Given the description of an element on the screen output the (x, y) to click on. 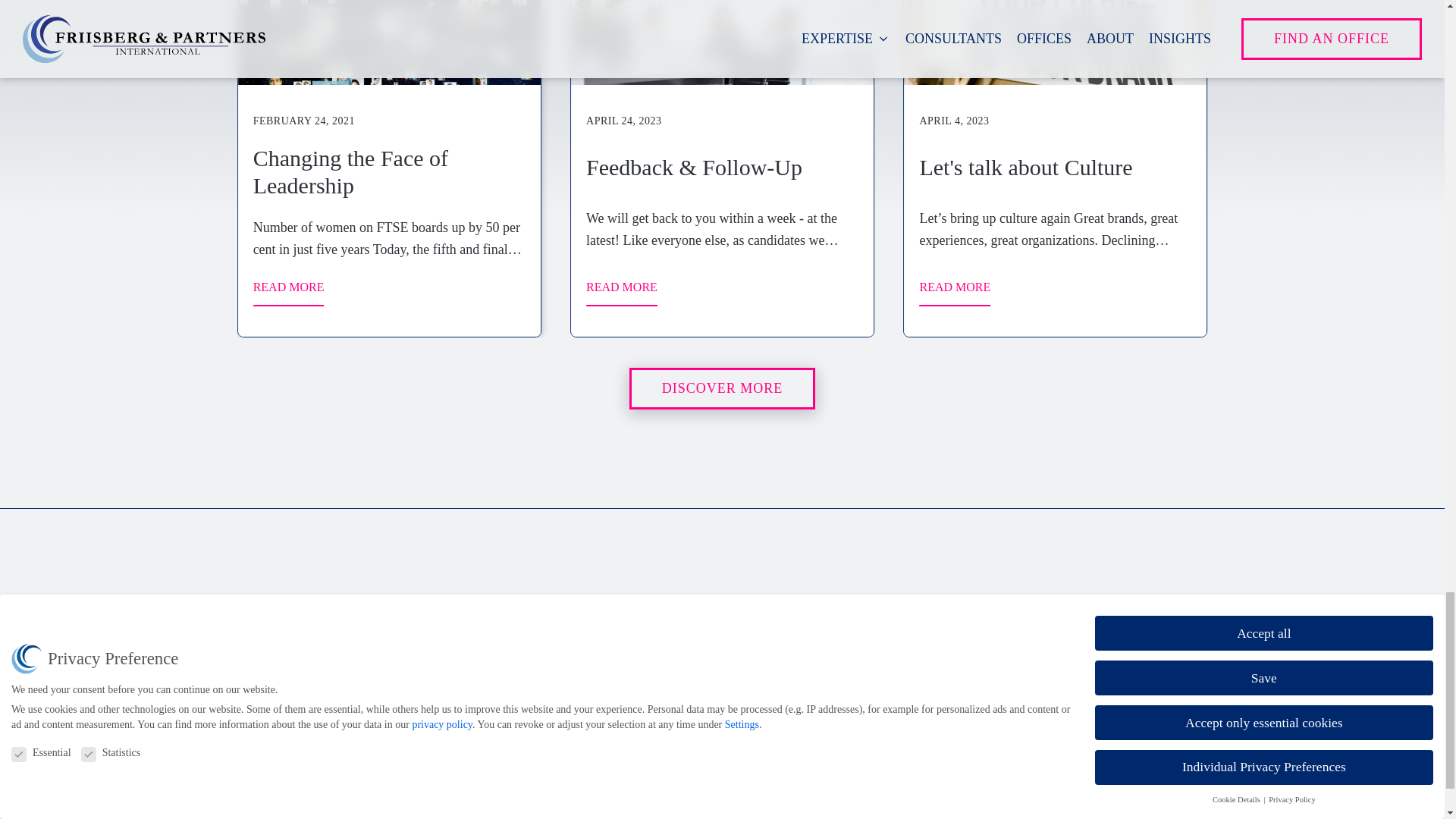
DISCOVER MORE (721, 388)
